Given the description of an element on the screen output the (x, y) to click on. 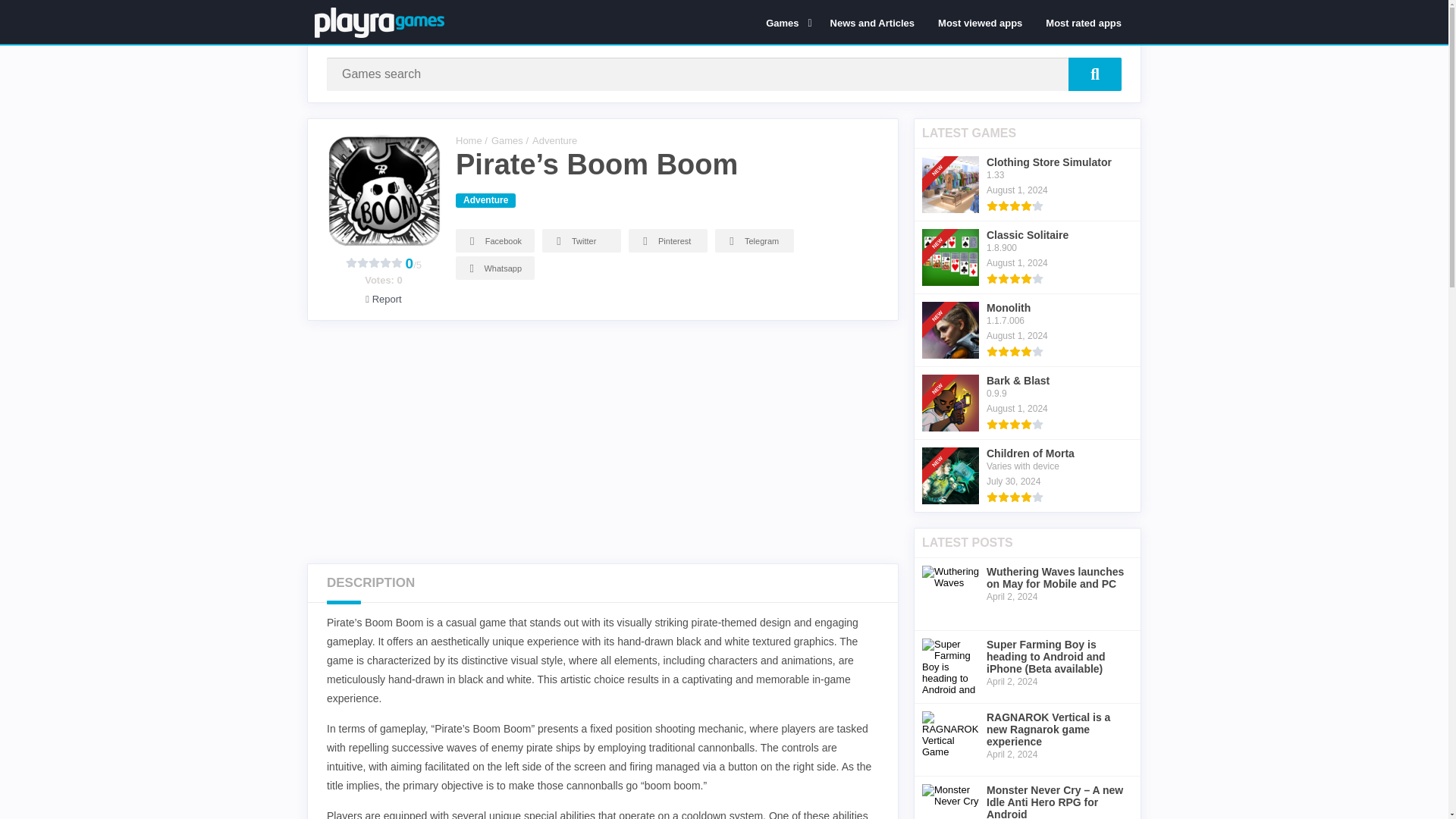
New (942, 296)
Games (785, 22)
Games search (1094, 73)
New (942, 223)
New (942, 441)
New (942, 150)
Advertisement (610, 441)
New (942, 368)
